Given the description of an element on the screen output the (x, y) to click on. 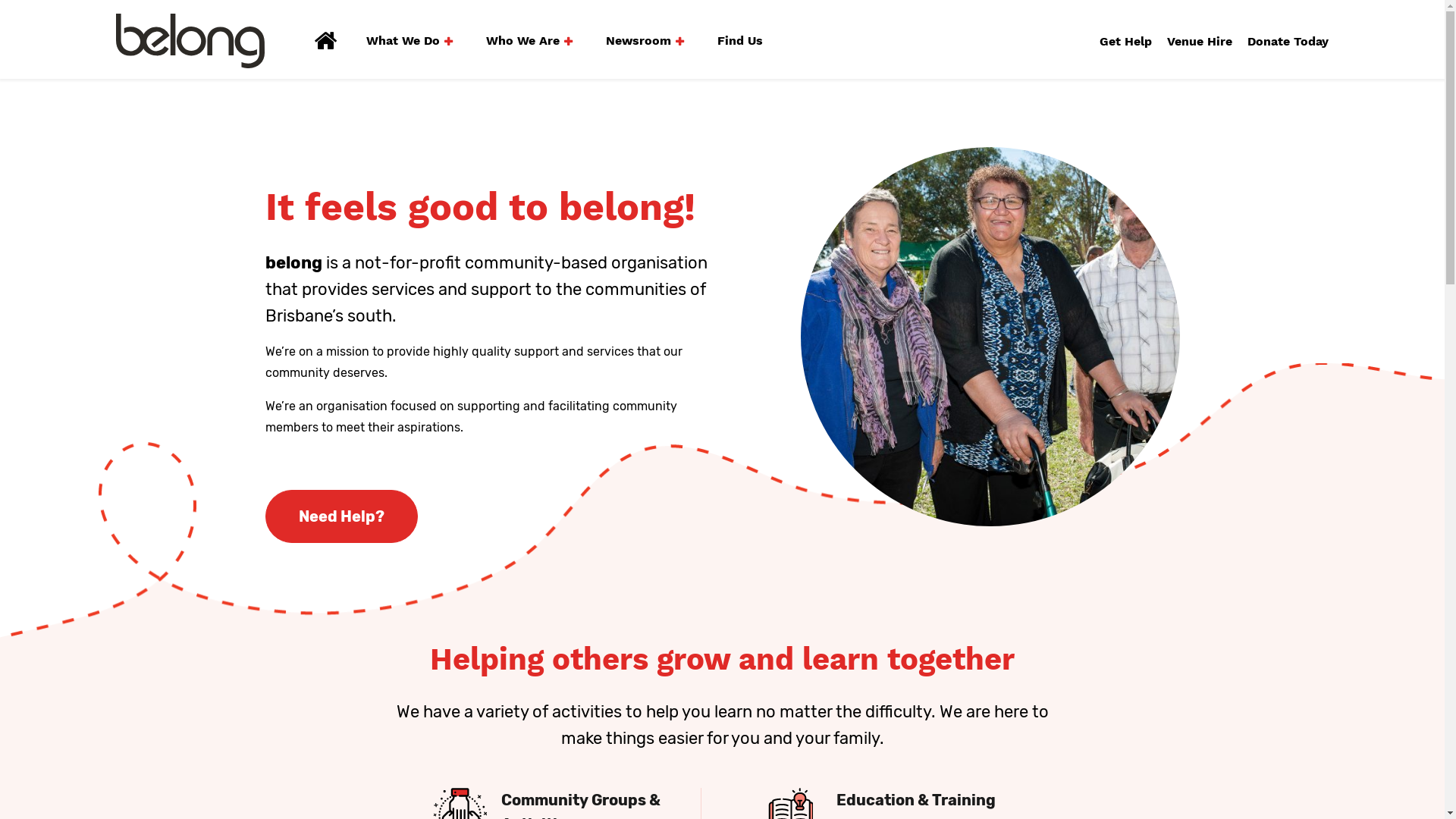
Need Help? Element type: text (341, 515)
Find Us Element type: text (739, 40)
Who We Are Element type: text (529, 40)
What We Do Element type: text (409, 40)
Get Help Element type: text (1125, 41)
Newsroom Element type: text (644, 40)
Venue Hire Element type: text (1199, 41)
Donate Today Element type: text (1287, 41)
